Given the description of an element on the screen output the (x, y) to click on. 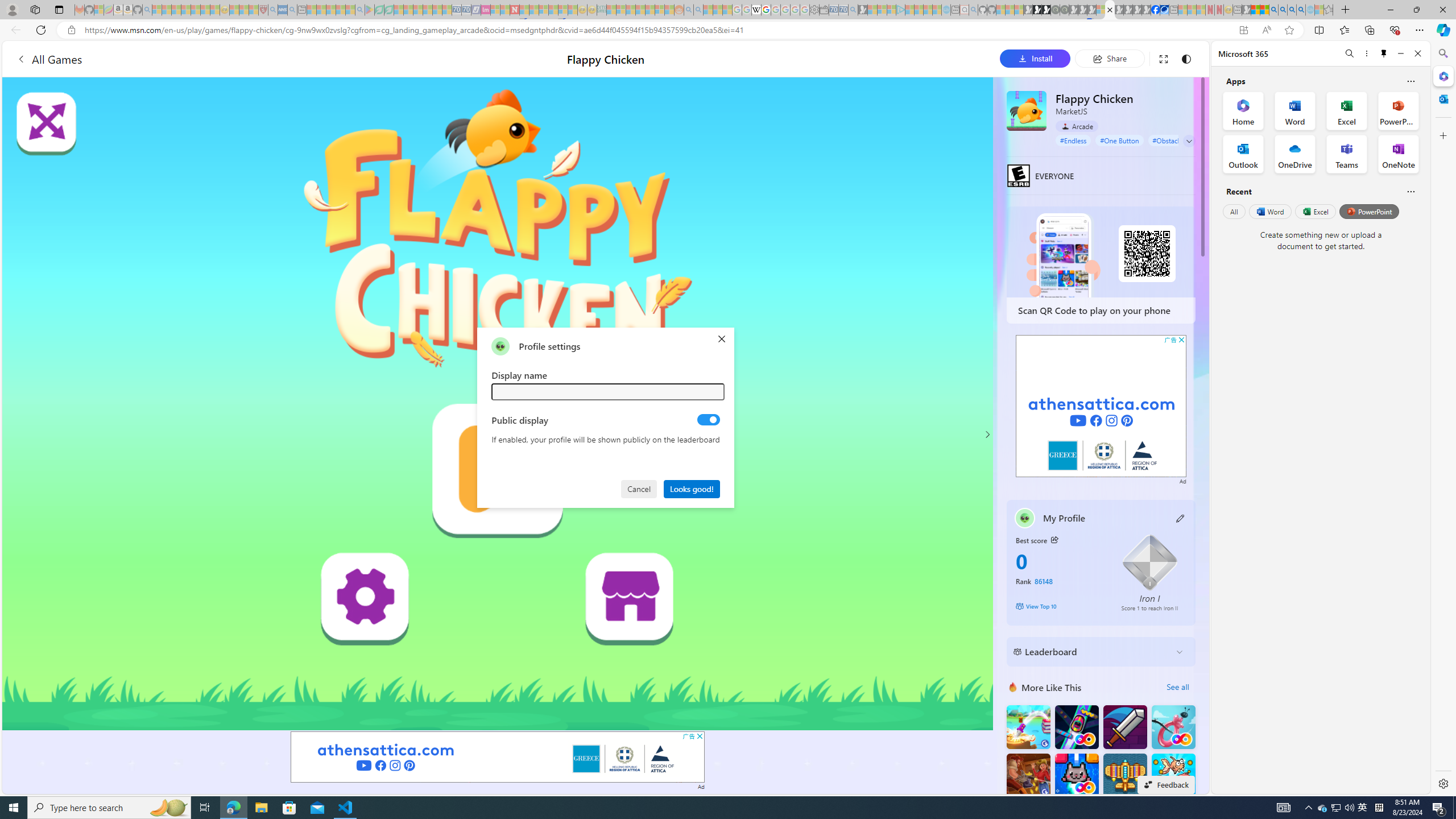
Microsoft Start Gaming - Sleeping (862, 9)
MSNBC - MSN - Sleeping (611, 9)
PowerPoint (1369, 210)
AutomationID: cbb (1181, 339)
App available. Install Flappy Chicken (1243, 29)
Jobs - lastminute.com Investor Portal - Sleeping (485, 9)
See all (1177, 687)
github - Search - Sleeping (972, 9)
